Given the description of an element on the screen output the (x, y) to click on. 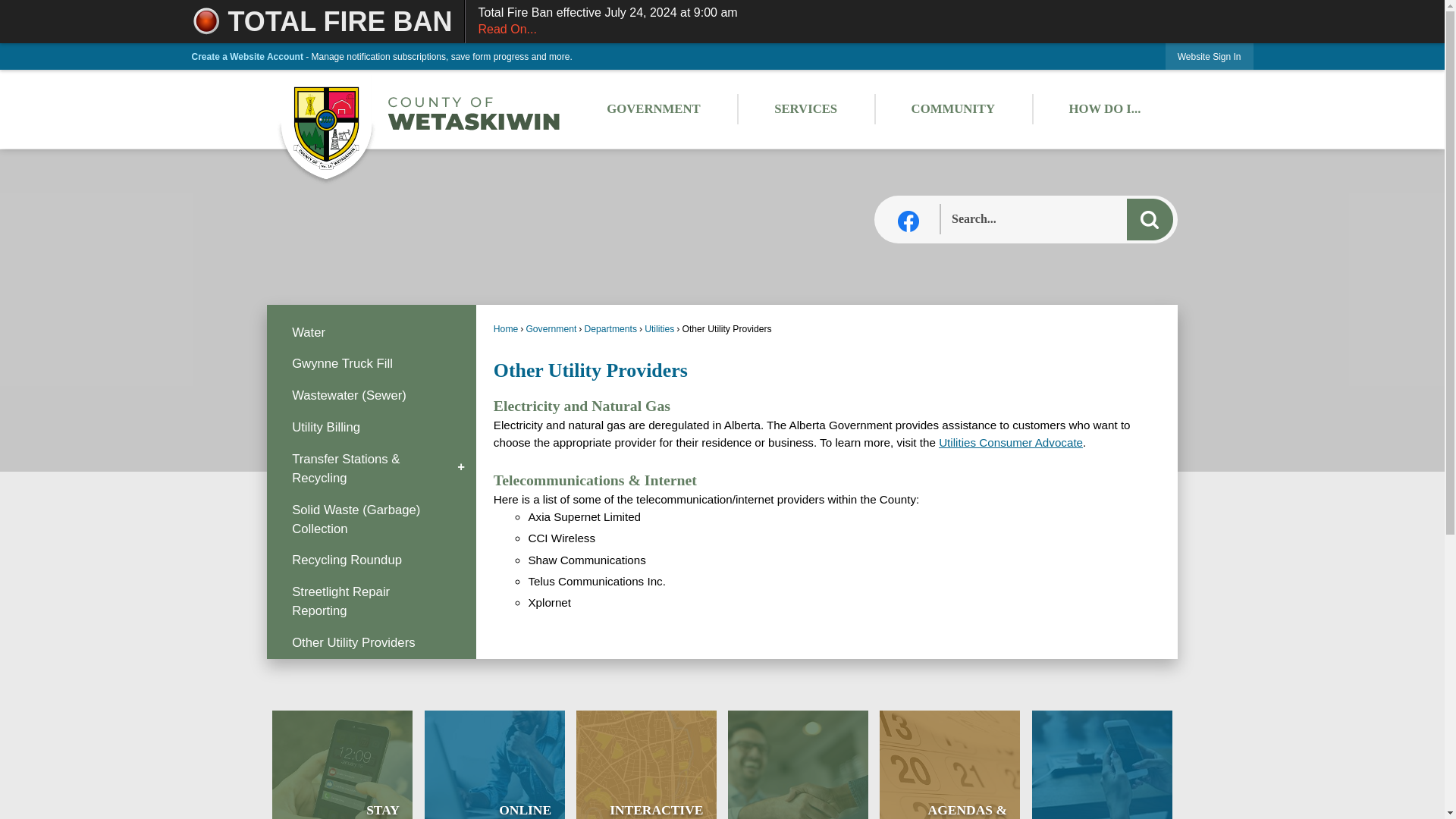
Utilities (659, 328)
Departments (610, 328)
HOW DO I... (1104, 108)
COMMUNITY (494, 764)
Home (953, 108)
Skip to Main Content (505, 328)
Website Sign In (342, 764)
CONTACT US (6, 6)
Other Utility Providers (1209, 56)
Search... (1102, 764)
SERVICES (371, 643)
Utilities Consumer Advocate (1056, 219)
